Given the description of an element on the screen output the (x, y) to click on. 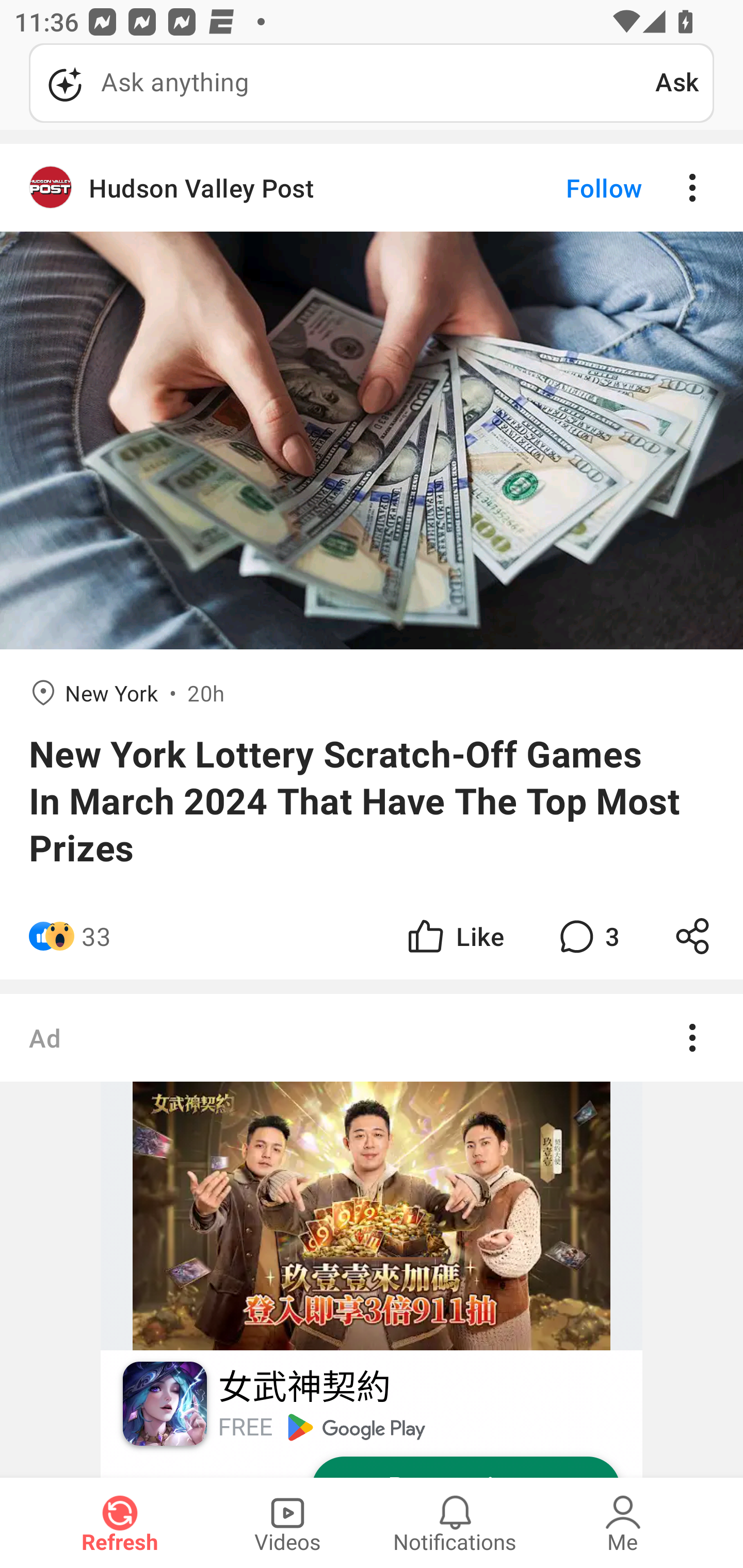
Ask anything (341, 82)
Hudson Valley Post Follow (371, 188)
Follow (569, 188)
33 (95, 936)
Like (454, 936)
3 (587, 936)
女武神契約 (303, 1387)
FREE (245, 1426)
Videos (287, 1522)
Notifications (455, 1522)
Me (622, 1522)
